Given the description of an element on the screen output the (x, y) to click on. 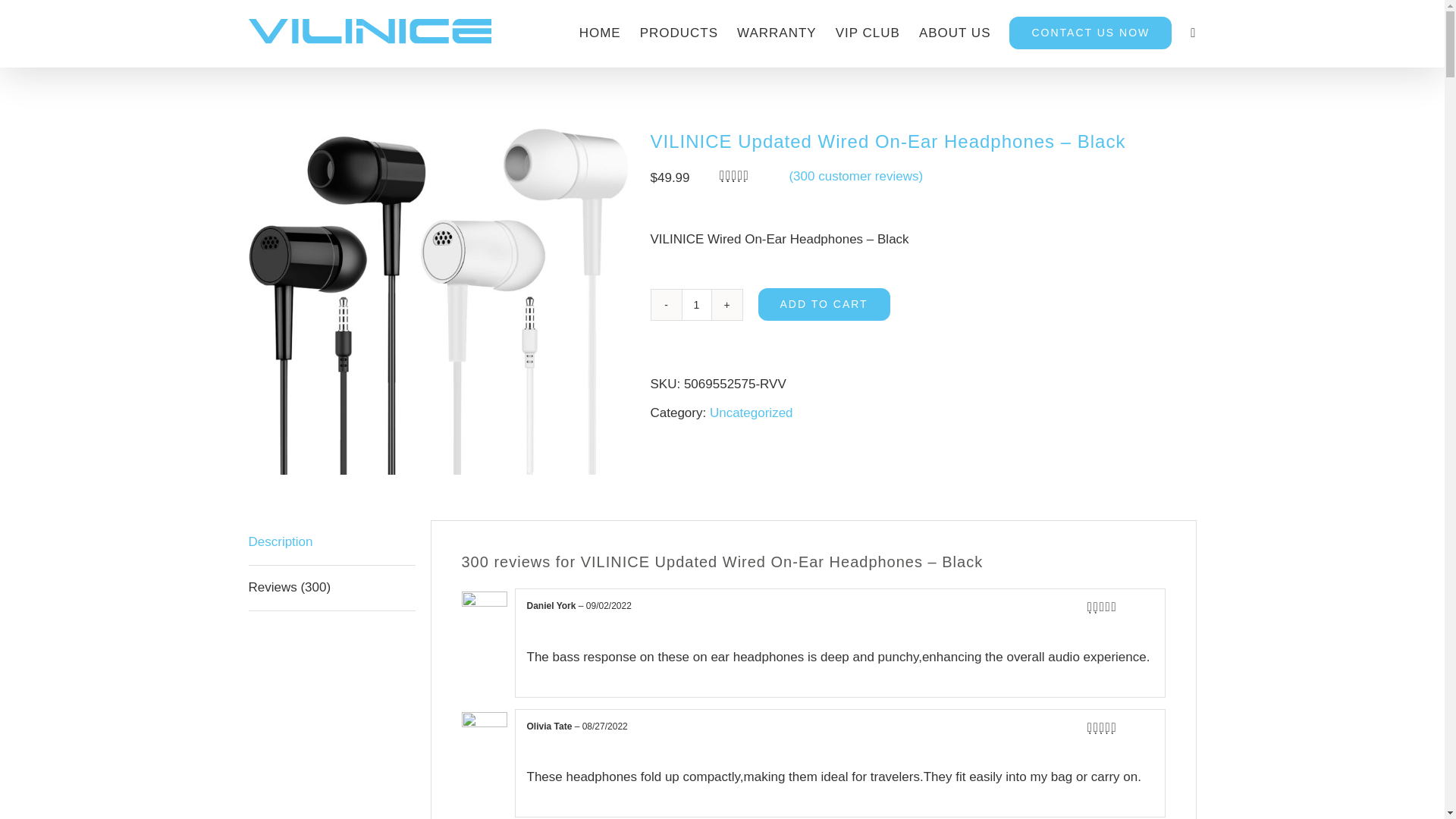
- (665, 304)
Uncategorized (751, 412)
ABOUT US (954, 31)
1 (696, 304)
Description (331, 542)
CONTACT US NOW (1090, 31)
VIP CLUB (867, 31)
PRODUCTS (678, 31)
WARRANTY (776, 31)
ADD TO CART (823, 304)
